Given the description of an element on the screen output the (x, y) to click on. 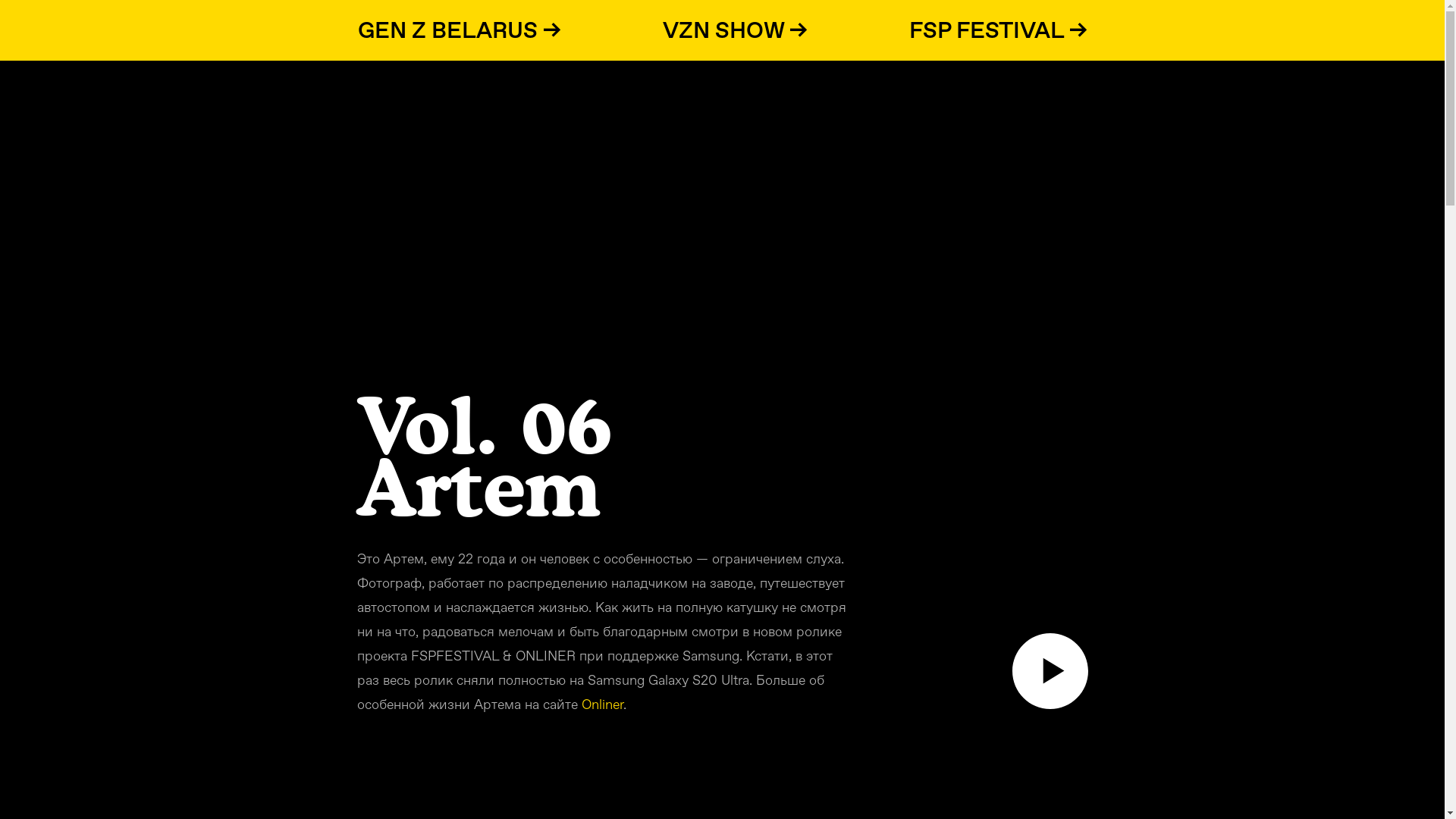
Onliner Element type: text (601, 704)
GEN Z BELARUS -> Element type: text (459, 29)
FSP FESTIVAL -> Element type: text (997, 29)
VZN SHOW -> Element type: text (734, 29)
